Given the description of an element on the screen output the (x, y) to click on. 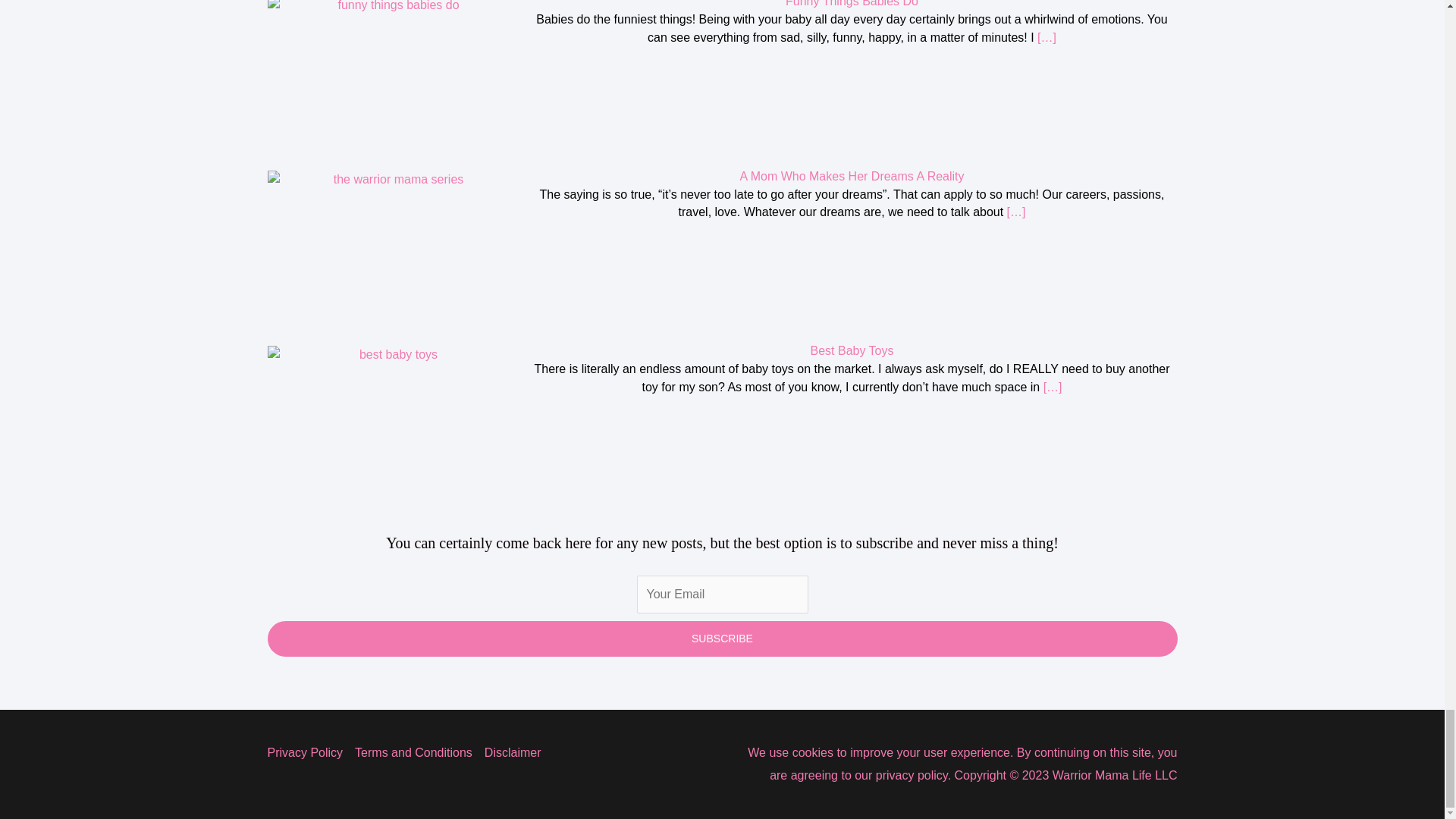
Subscribe (721, 638)
